Given the description of an element on the screen output the (x, y) to click on. 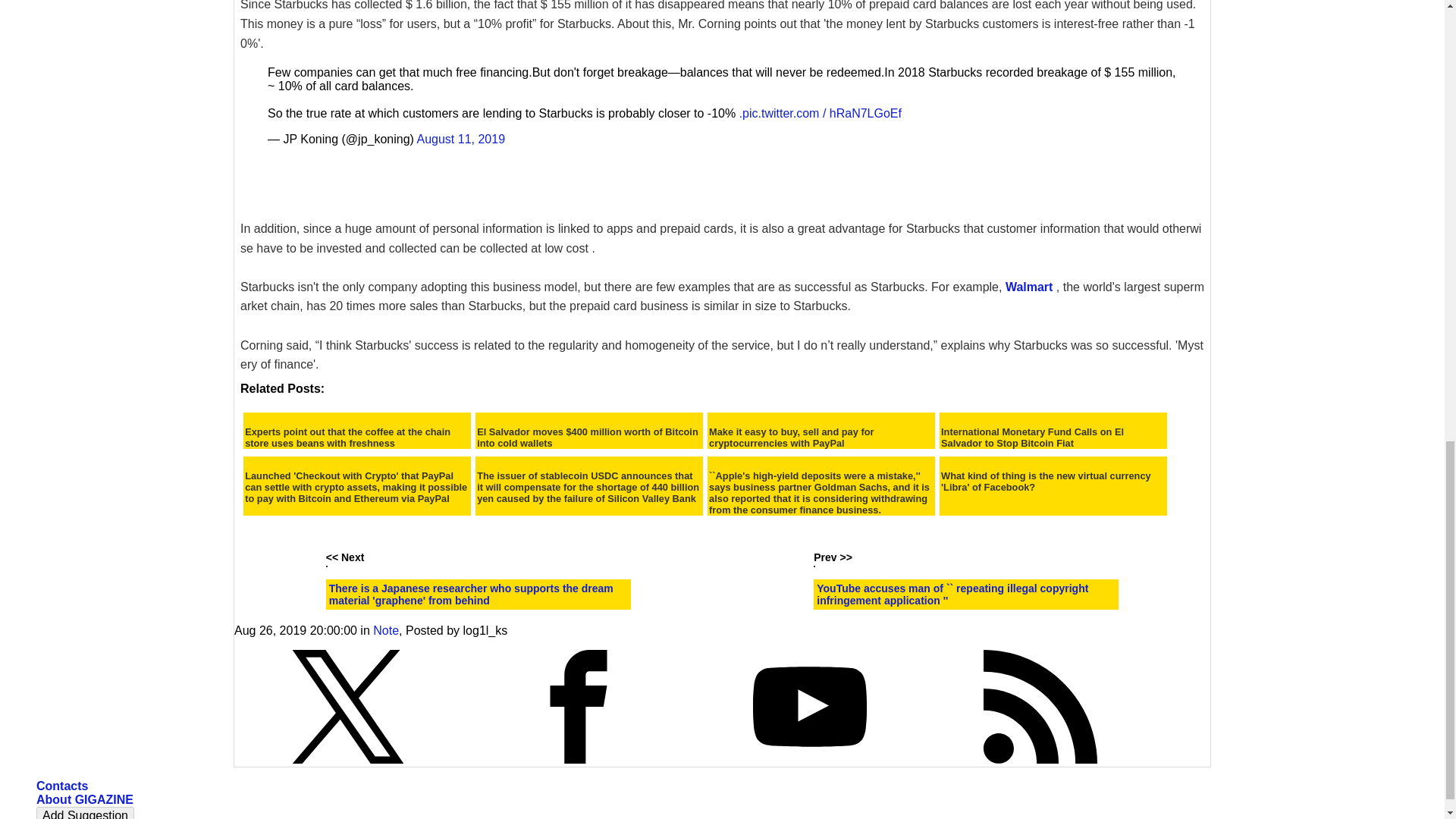
Note (385, 630)
August 11, 2019 (460, 138)
Walmart (1029, 286)
